Given the description of an element on the screen output the (x, y) to click on. 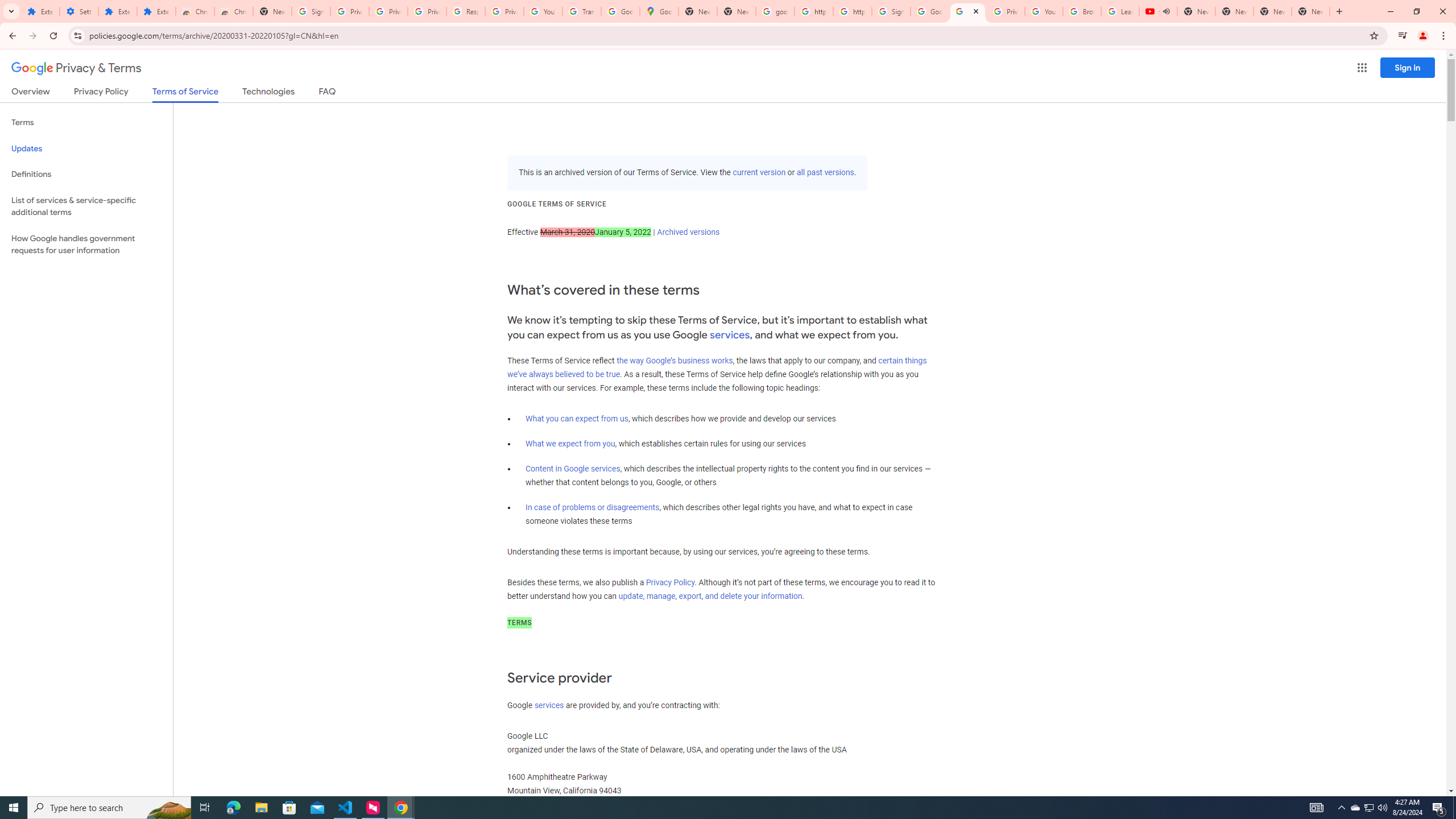
Chrome Web Store - Themes (233, 11)
all past versions (825, 172)
In case of problems or disagreements (592, 507)
update, manage, export, and delete your information (710, 596)
What you can expect from us (576, 418)
